Given the description of an element on the screen output the (x, y) to click on. 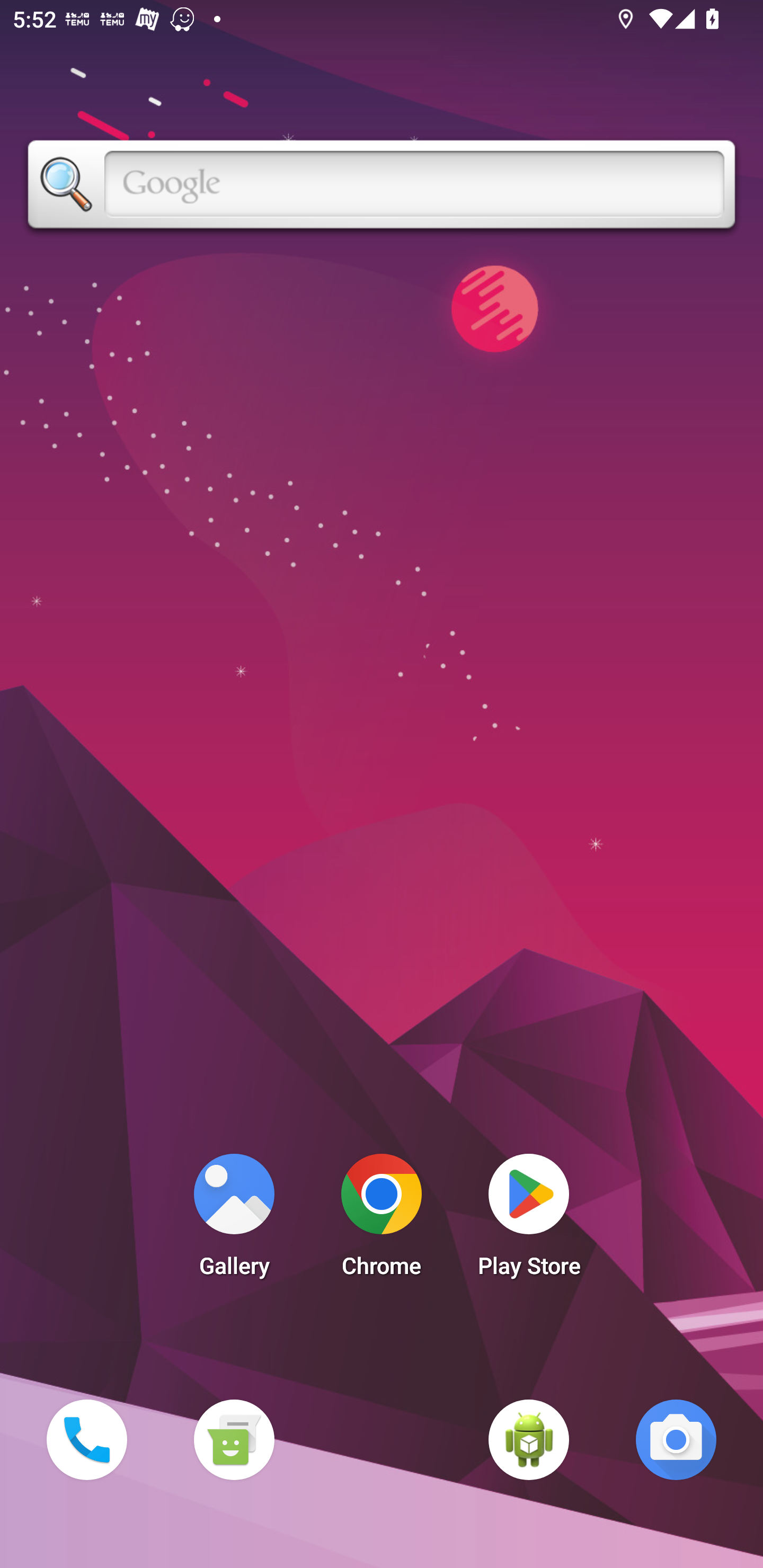
Gallery (233, 1220)
Chrome (381, 1220)
Play Store (528, 1220)
Phone (86, 1439)
Messaging (233, 1439)
WebView Browser Tester (528, 1439)
Camera (676, 1439)
